Given the description of an element on the screen output the (x, y) to click on. 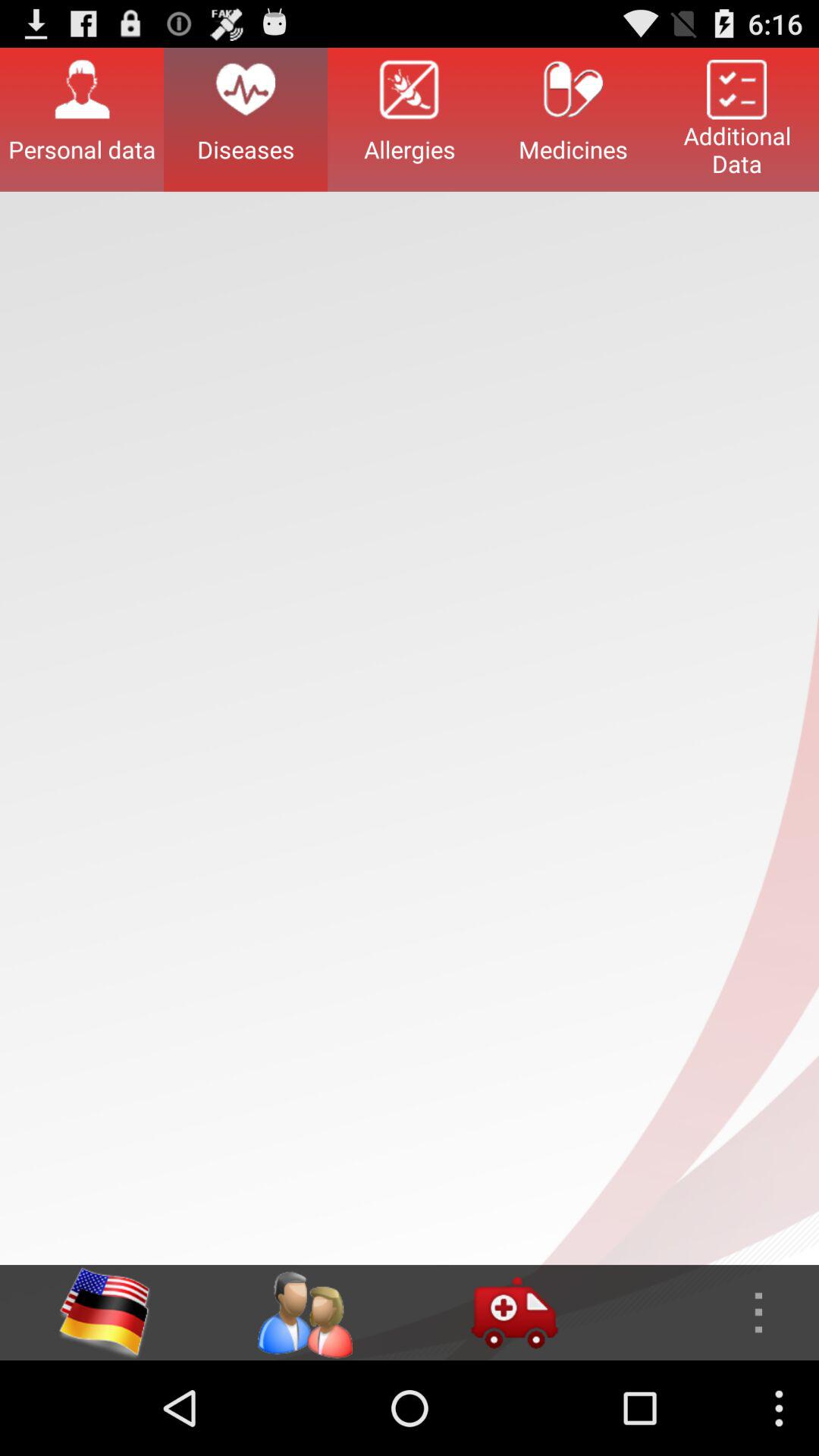
more options (713, 1312)
